Given the description of an element on the screen output the (x, y) to click on. 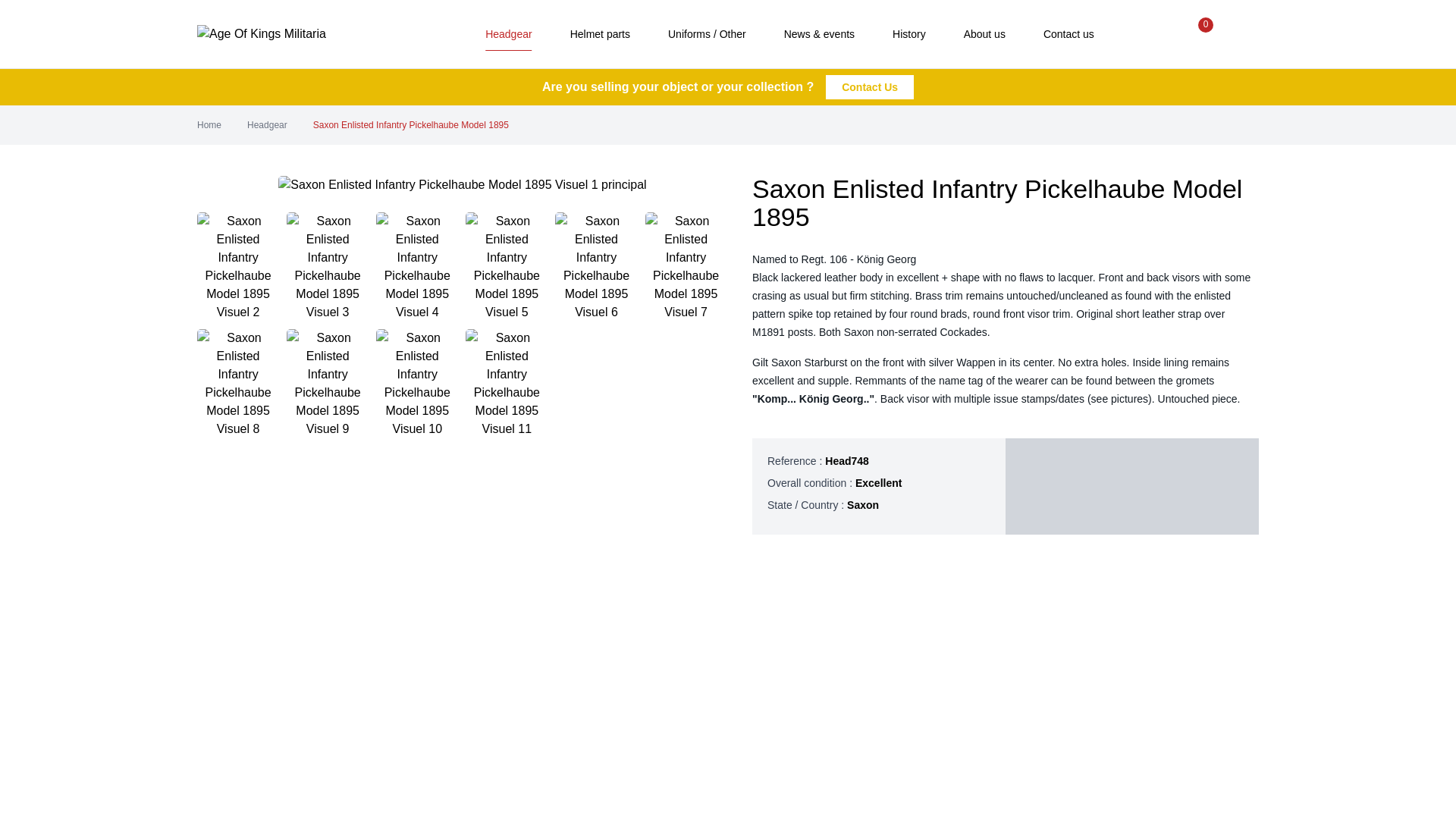
My cart (1195, 34)
Home (208, 124)
Headgear (266, 124)
0 (1195, 34)
Accueil (295, 34)
Home (208, 124)
Headgear (266, 124)
Saxon Enlisted Infantry Pickelhaube Model 1895 (410, 124)
